Given the description of an element on the screen output the (x, y) to click on. 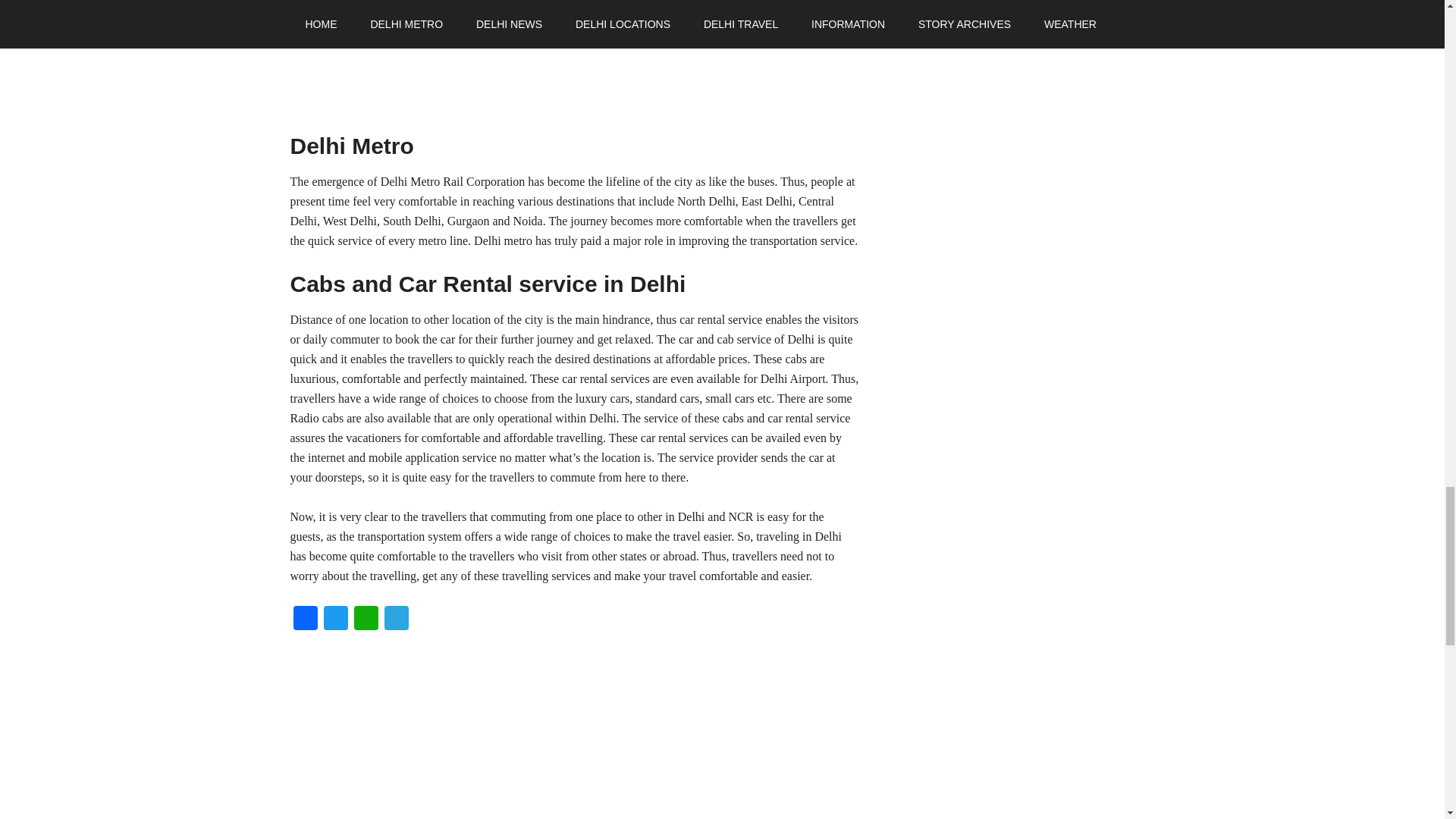
WhatsApp (365, 619)
Twitter (335, 619)
Twitter (335, 619)
Telegram (395, 619)
Facebook (304, 619)
Telegram (395, 619)
Facebook (304, 619)
WhatsApp (365, 619)
